Given the description of an element on the screen output the (x, y) to click on. 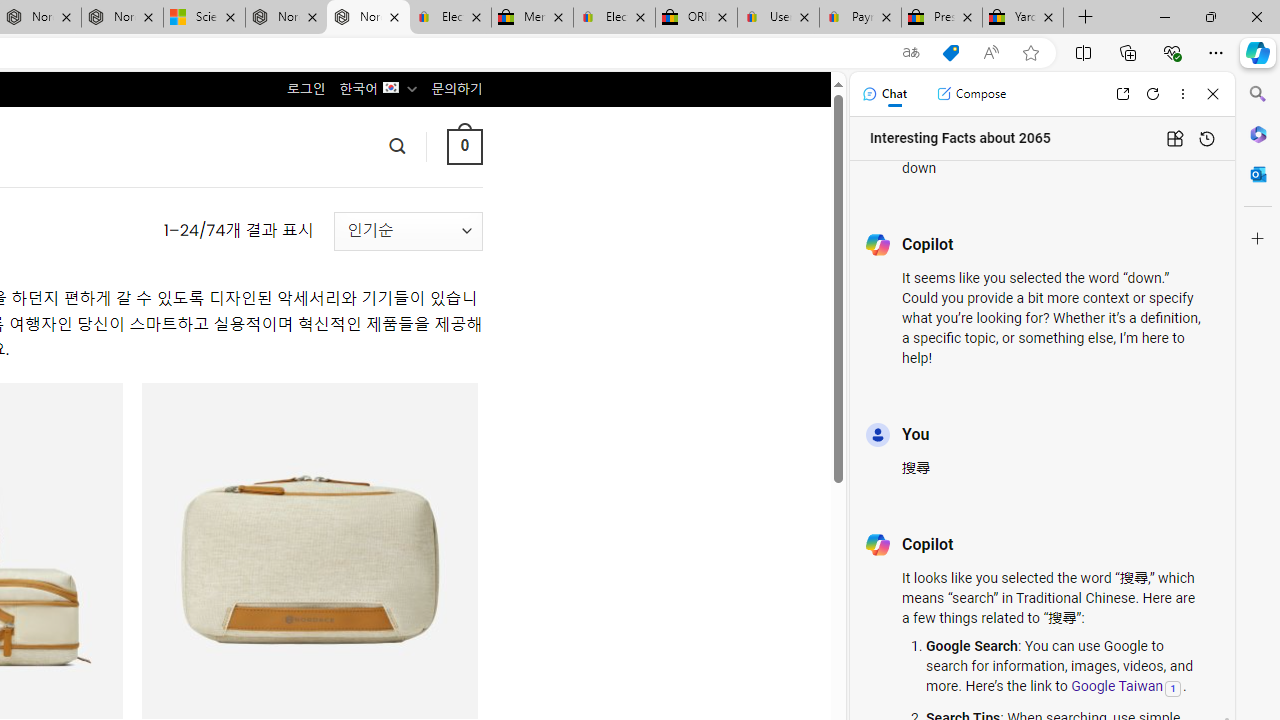
Show translate options (910, 53)
Press Room - eBay Inc. (941, 17)
